Given the description of an element on the screen output the (x, y) to click on. 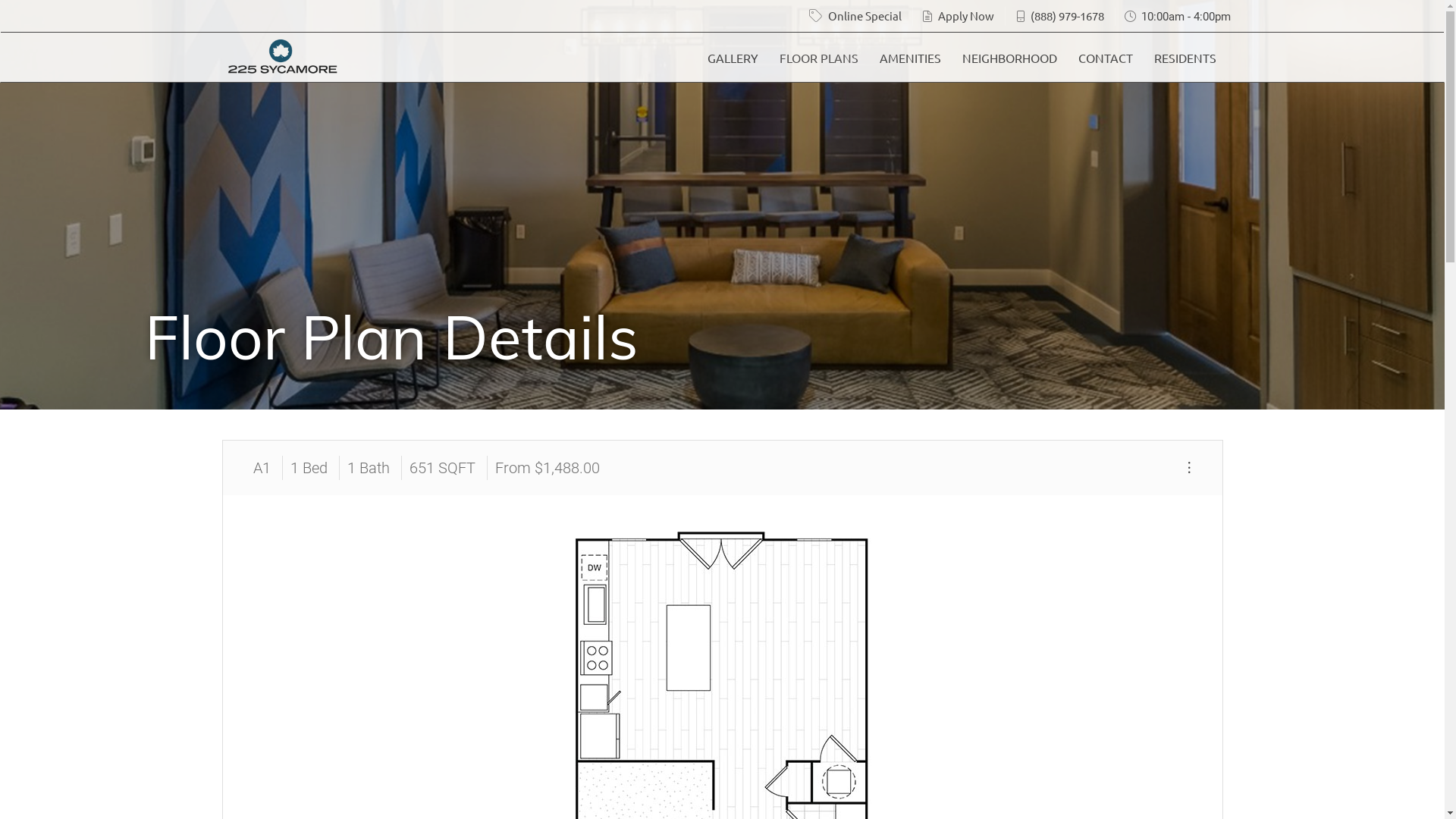
GALLERY Element type: text (732, 57)
(888) 979-1678 Element type: text (1067, 15)
RESIDENTS Element type: text (1184, 57)
NEIGHBORHOOD Element type: text (1008, 57)
CONTACT Element type: text (1105, 57)
AMENITIES Element type: text (910, 57)
Apply Now Element type: text (966, 15)
Online Special Element type: text (864, 15)
FLOOR PLANS Element type: text (818, 57)
